Given the description of an element on the screen output the (x, y) to click on. 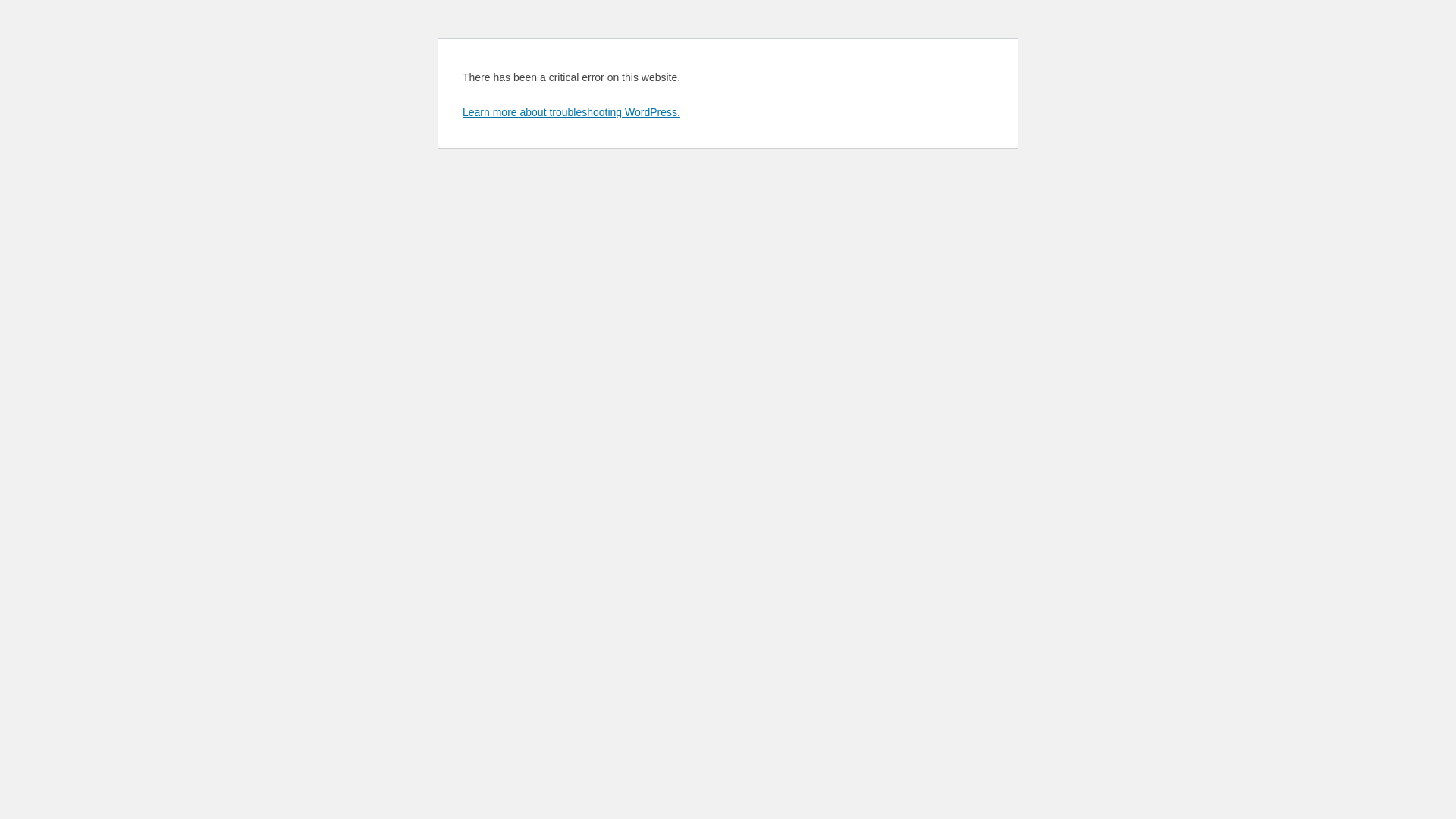
Learn more about troubleshooting WordPress. Element type: text (571, 112)
